Given the description of an element on the screen output the (x, y) to click on. 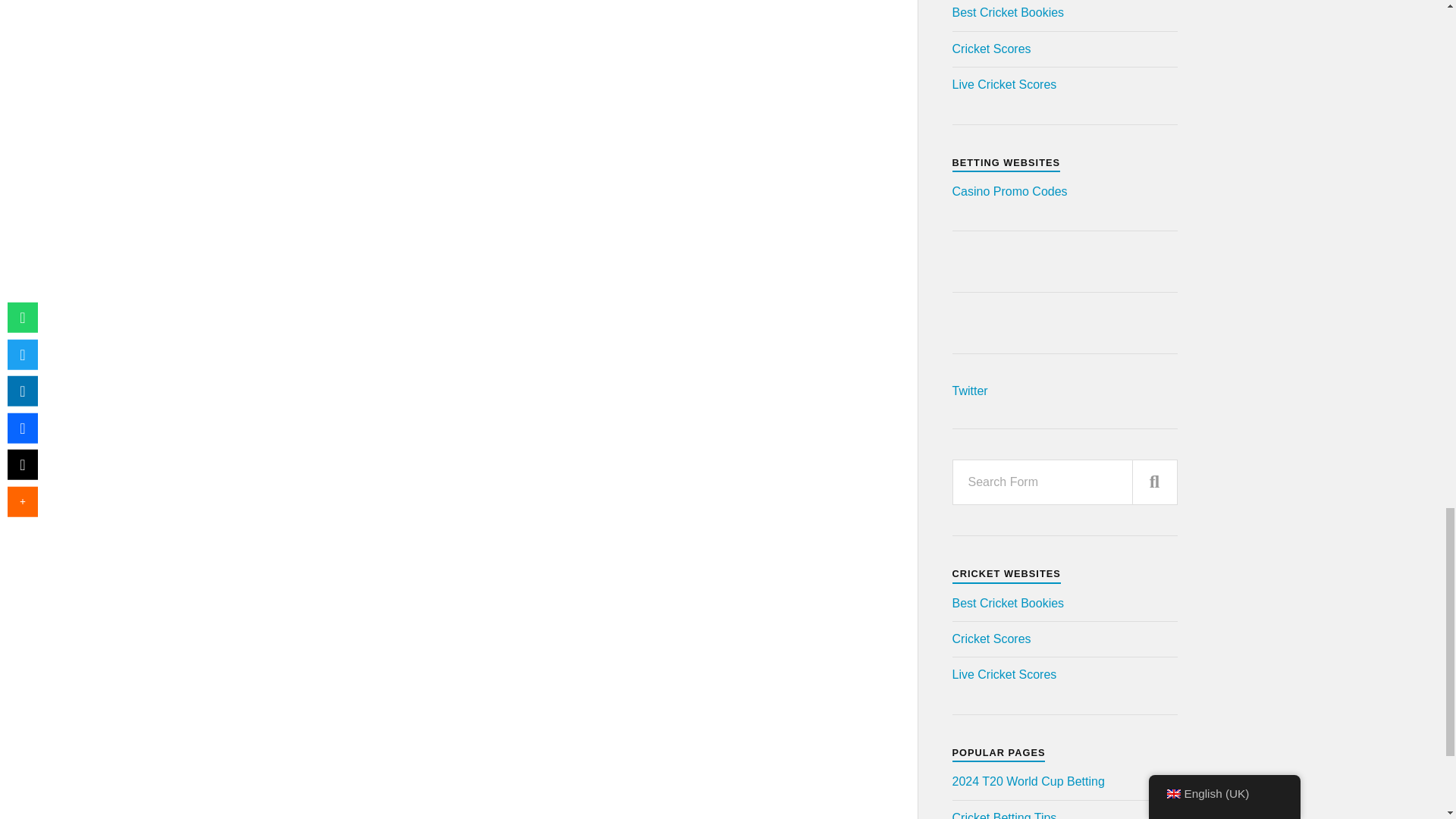
Latest Free Cricket Betting Tips (1004, 815)
Betting Guide to 2024 T20 World Cup (1028, 780)
Find The Top Paying Casino Welcome Bonuses  (1009, 191)
